Given the description of an element on the screen output the (x, y) to click on. 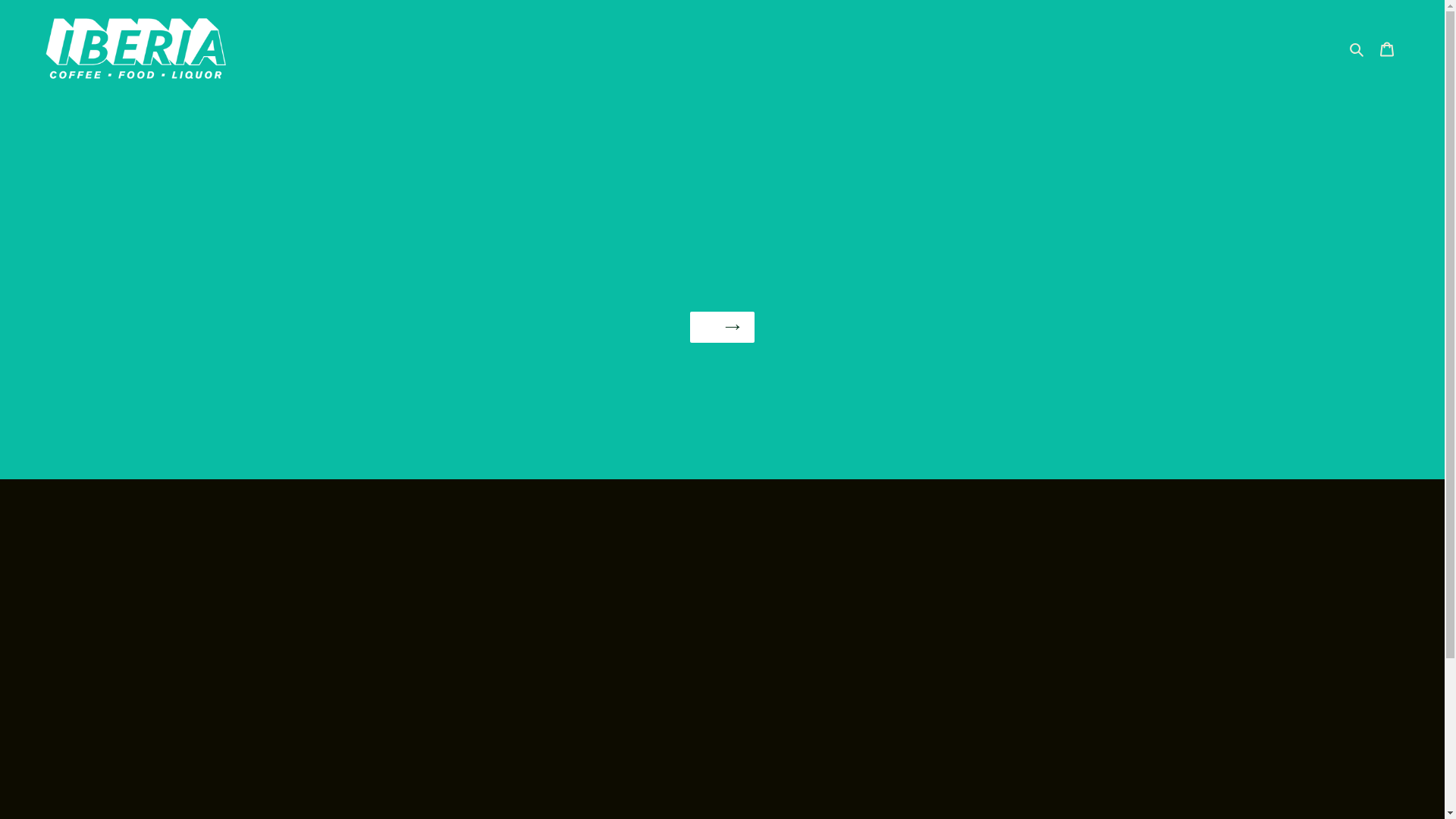
Contact Element type: text (721, 48)
Search Element type: text (1357, 48)
Cart Element type: text (1386, 48)
Book Now Element type: text (736, 48)
CONTINUE SHOPPING Element type: text (722, 326)
Home Element type: text (706, 48)
